Given the description of an element on the screen output the (x, y) to click on. 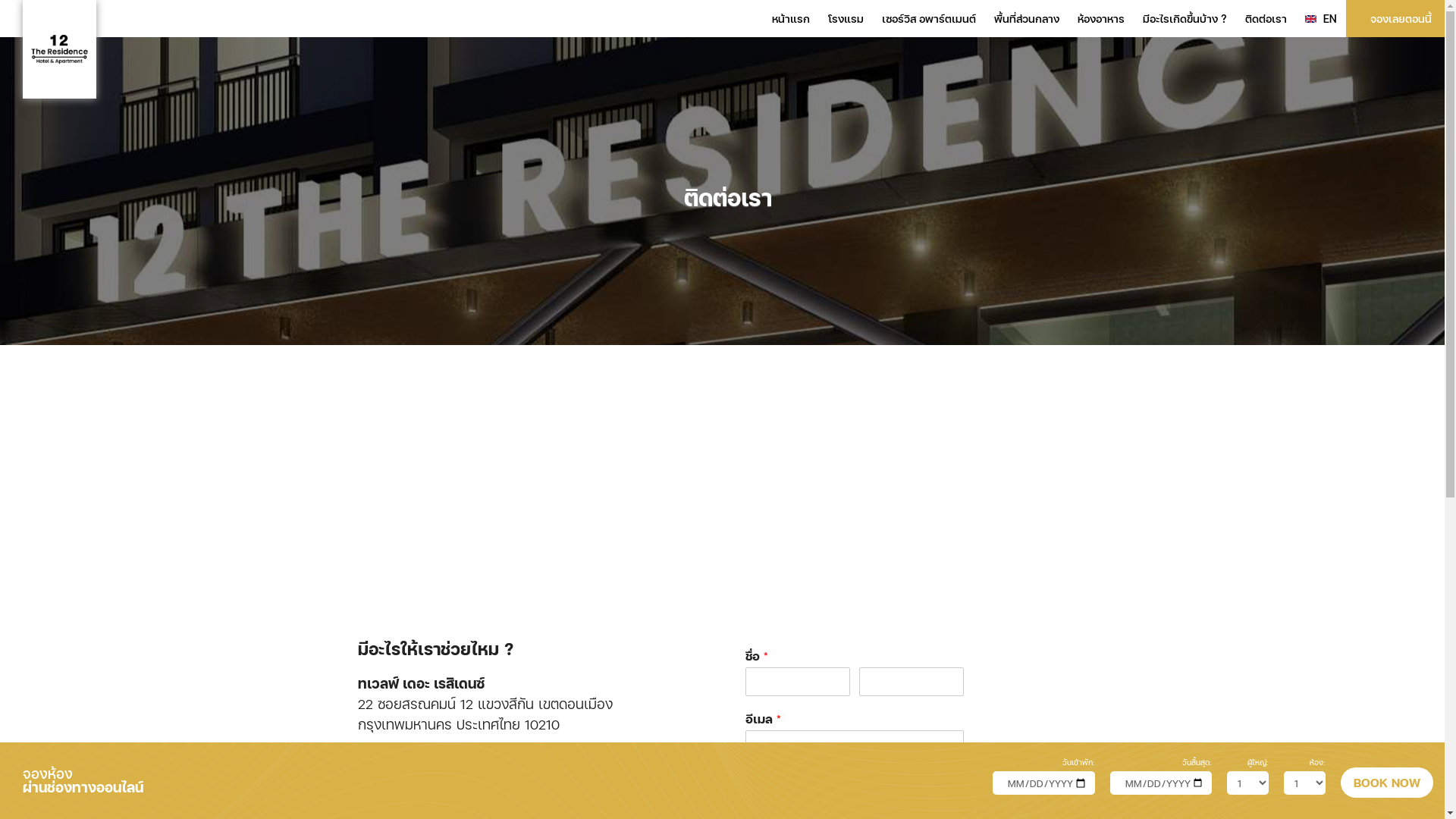
Book Now Element type: text (1386, 782)
EN Element type: text (1320, 18)
RSVN@12THERESIDENCE.COM Element type: text (489, 807)
02-566-3333 Element type: text (415, 787)
086-845-3333 Element type: text (522, 787)
